Given the description of an element on the screen output the (x, y) to click on. 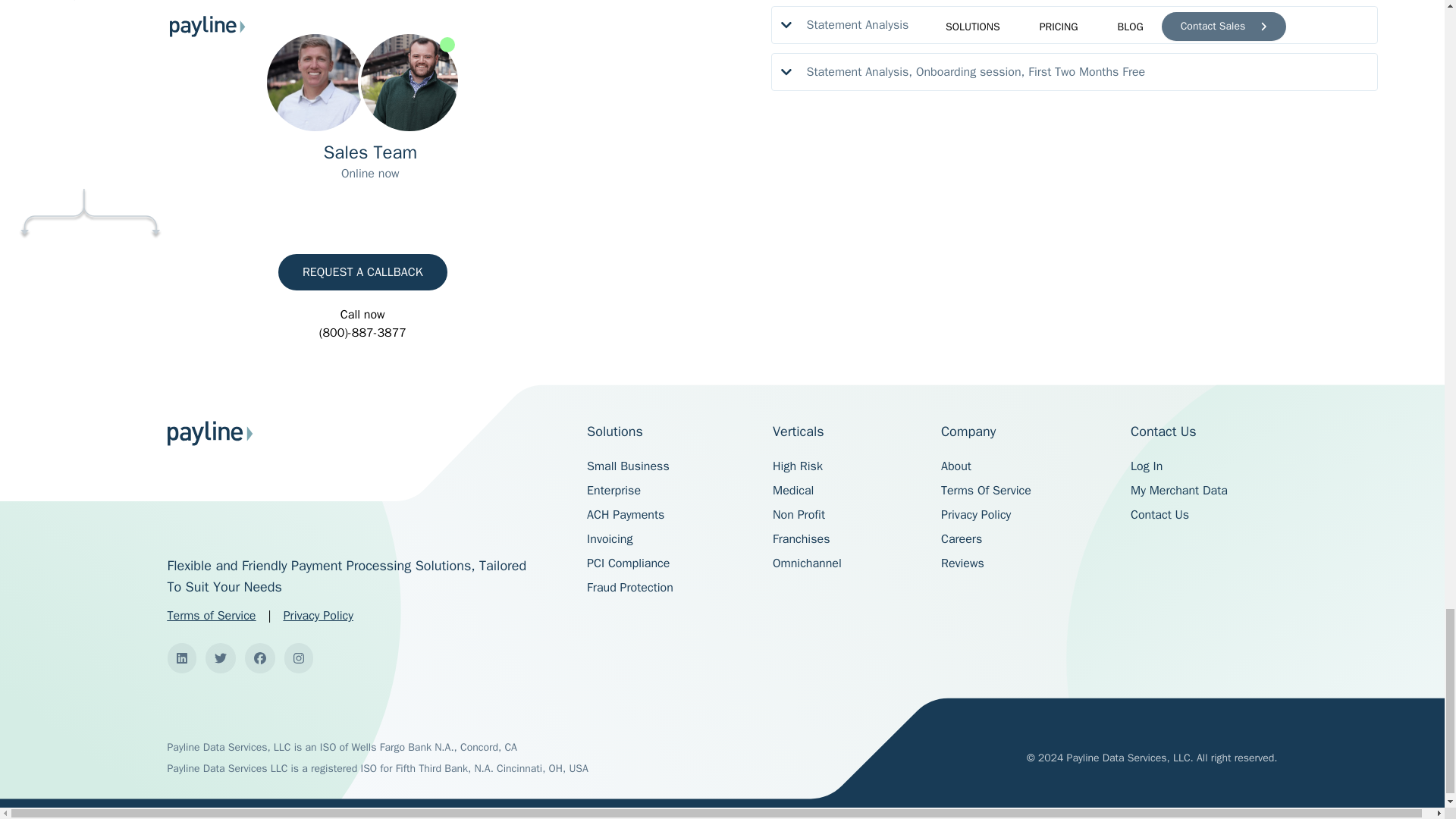
Small Business (627, 466)
Fraud Protection (629, 587)
Invoicing (608, 539)
Enterprise (613, 490)
PCI Compliance (627, 563)
Privacy Policy (318, 615)
REQUEST A CALLBACK (362, 271)
Terms of Service (211, 615)
REQUEST A CALLBACK (362, 272)
ACH Payments (624, 514)
